Given the description of an element on the screen output the (x, y) to click on. 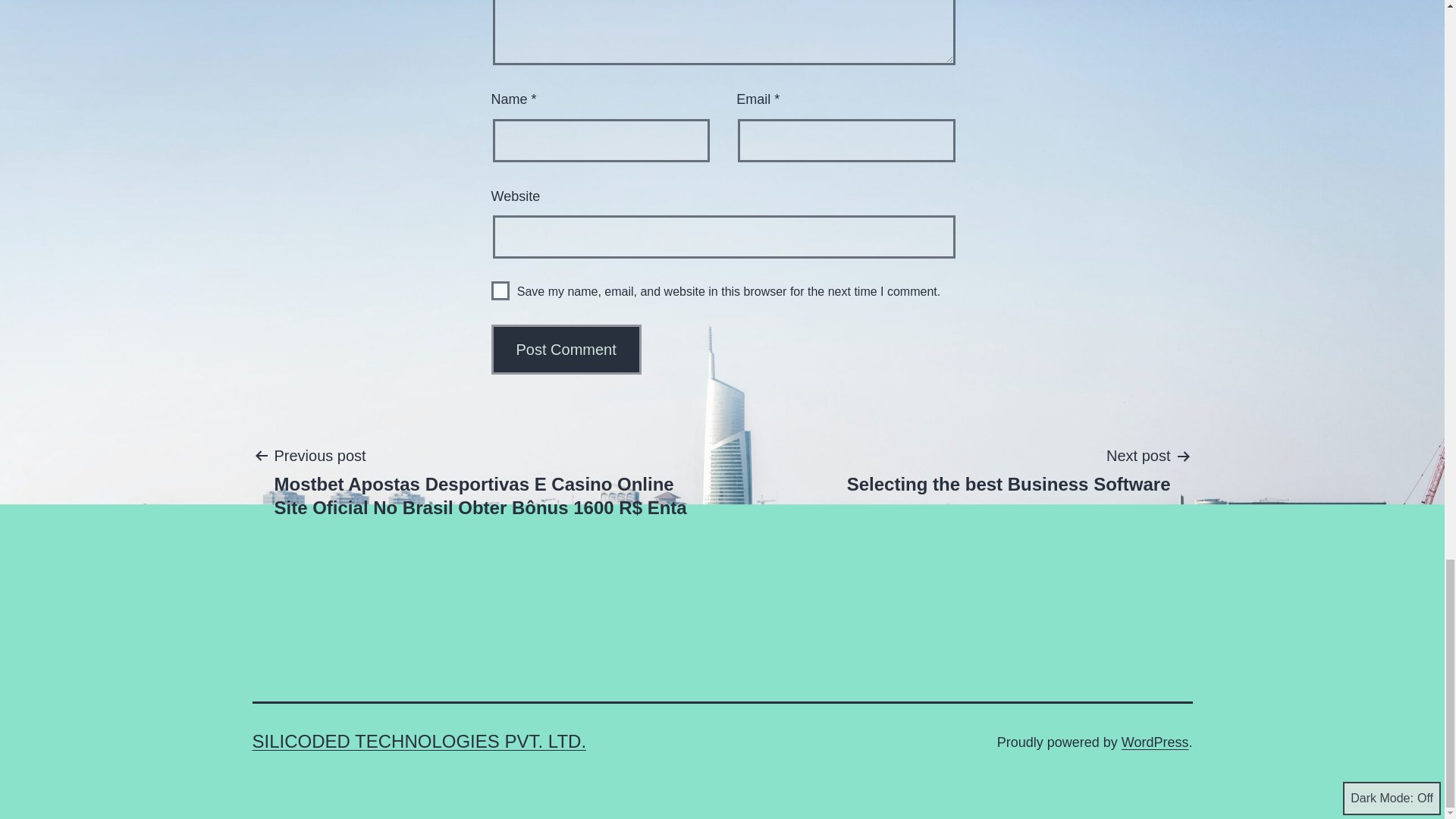
Post Comment (567, 349)
SILICODED TECHNOLOGIES PVT. LTD. (418, 741)
yes (500, 290)
WordPress (1008, 469)
Post Comment (1155, 742)
